Given the description of an element on the screen output the (x, y) to click on. 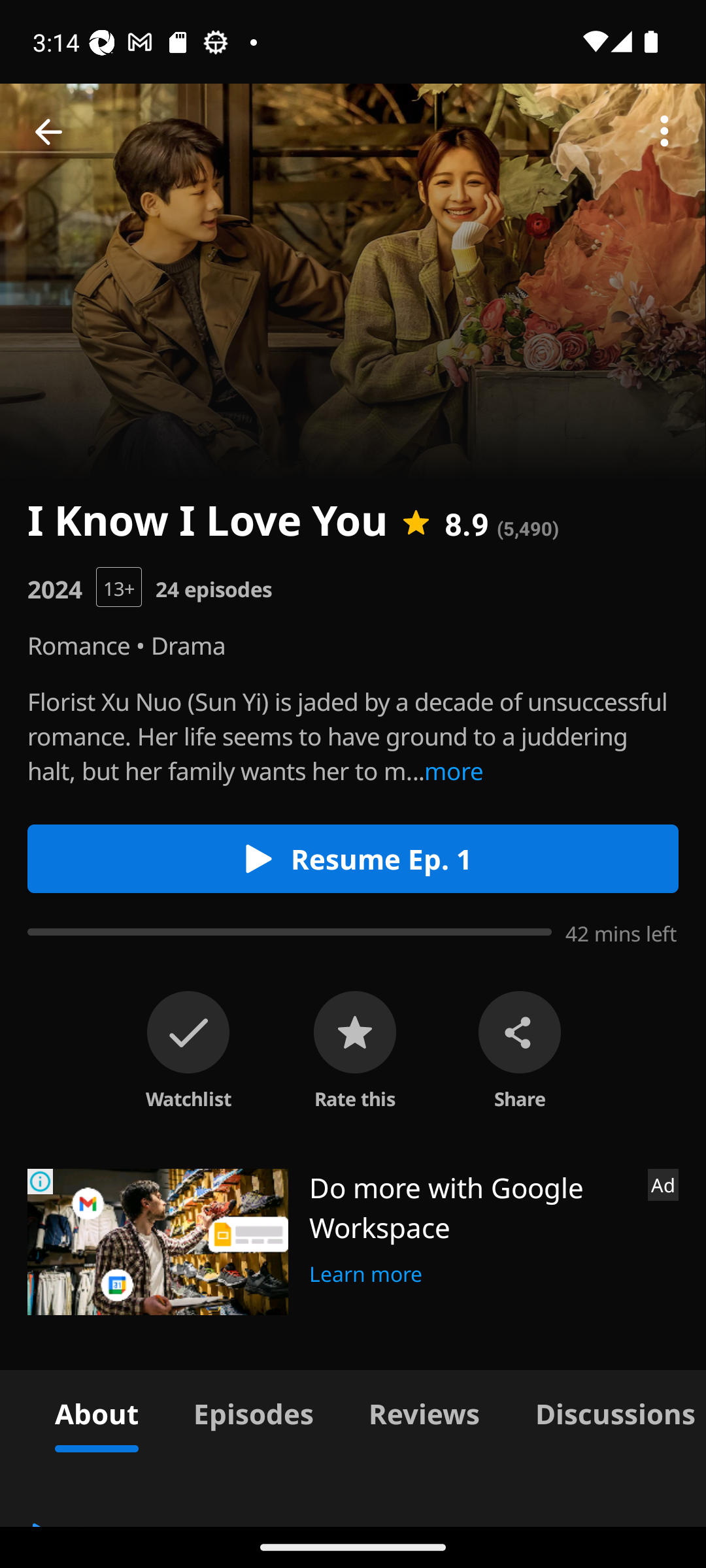
More (664, 131)
on (187, 1032)
Ad Choices Icon (39, 1181)
Do more with Google Workspace (471, 1207)
Learn more (365, 1271)
Episodes (252, 1410)
Reviews (423, 1410)
Discussions (606, 1410)
